Given the description of an element on the screen output the (x, y) to click on. 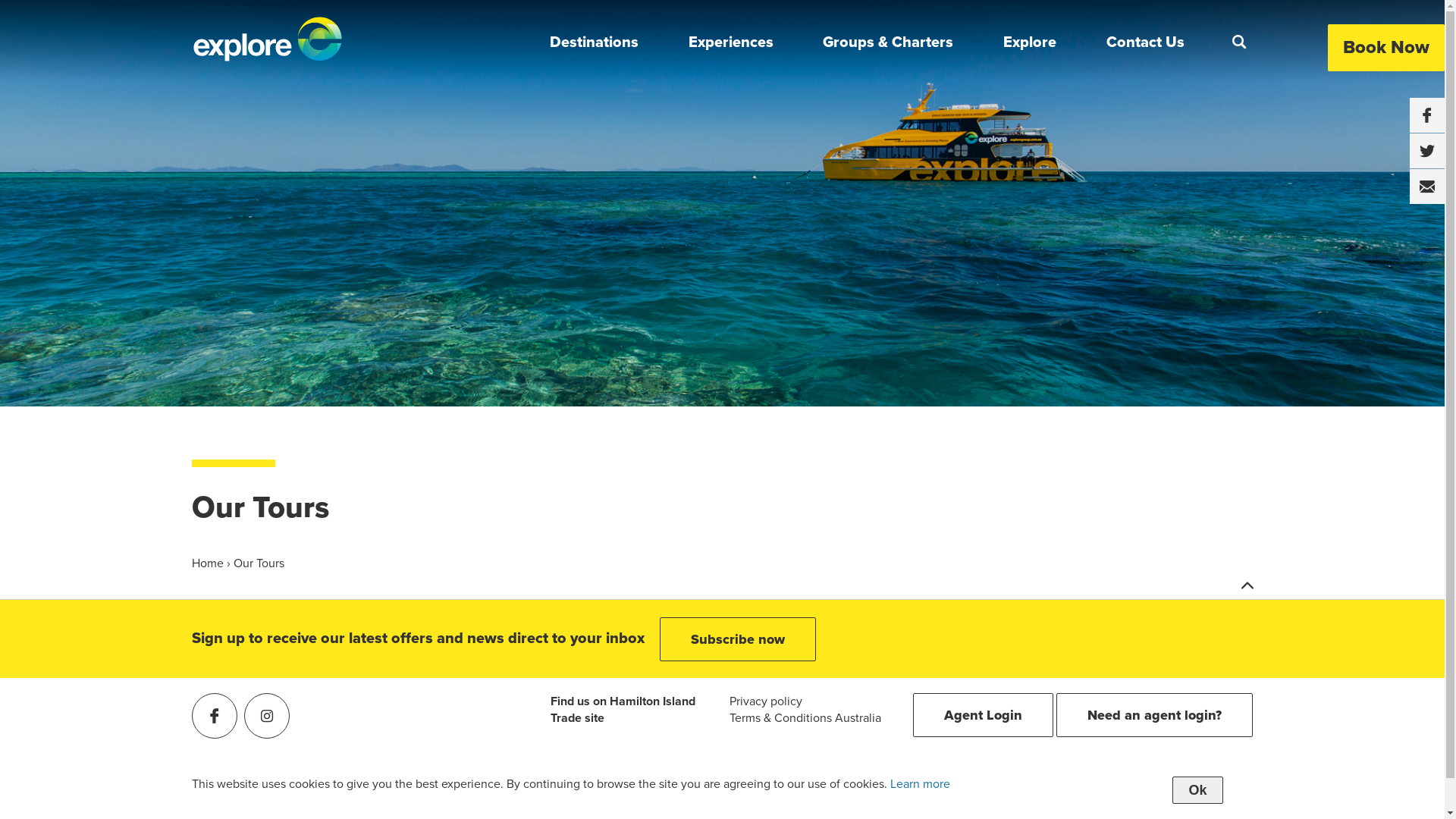
Home Element type: text (208, 563)
Facebook Element type: text (213, 715)
Our Tours Element type: text (258, 563)
Share on Facebook Element type: text (1426, 114)
Terms & Conditions Australia Element type: text (805, 717)
Book Now Element type: text (1385, 47)
Need an agent login? Element type: text (1154, 715)
Contact Us Element type: text (1145, 43)
Destinations Element type: text (593, 43)
Privacy policy Element type: text (765, 701)
https://www.instagram.com/exploregroupaus/ Element type: text (266, 715)
Search Element type: hover (1237, 43)
Agent Login Element type: text (983, 715)
Explore Element type: text (1029, 43)
Send to a Friend Element type: text (1426, 186)
Groups & Charters Element type: text (887, 43)
Find us on Hamilton Island Element type: text (622, 701)
Learn more Element type: text (920, 783)
Share on Twitter Element type: text (1426, 150)
Subscribe now Element type: text (737, 639)
Trade site Element type: text (577, 717)
Ok Element type: text (1197, 789)
Experiences Element type: text (730, 43)
